Given the description of an element on the screen output the (x, y) to click on. 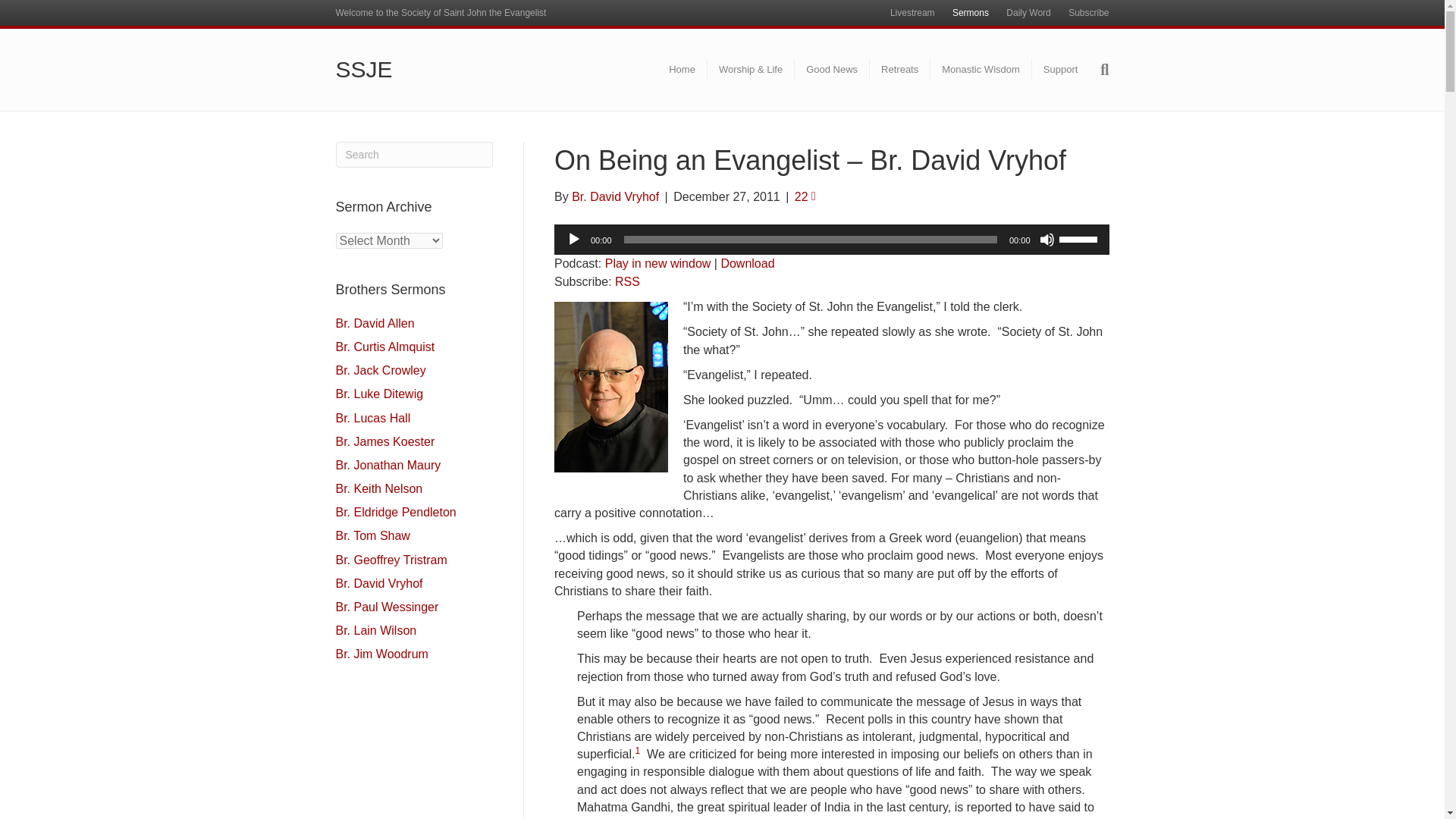
Type and press Enter to search. (413, 154)
Good News (831, 69)
Sermons (969, 13)
SSJE (457, 69)
Mute (1046, 239)
Livestream (912, 13)
Monastic Wisdom (981, 69)
Daily Word (1028, 13)
Play (573, 239)
Download (747, 263)
Play in new window (658, 263)
Subscribe (1088, 13)
Home (682, 69)
Subscribe via RSS (627, 281)
Support (1060, 69)
